Given the description of an element on the screen output the (x, y) to click on. 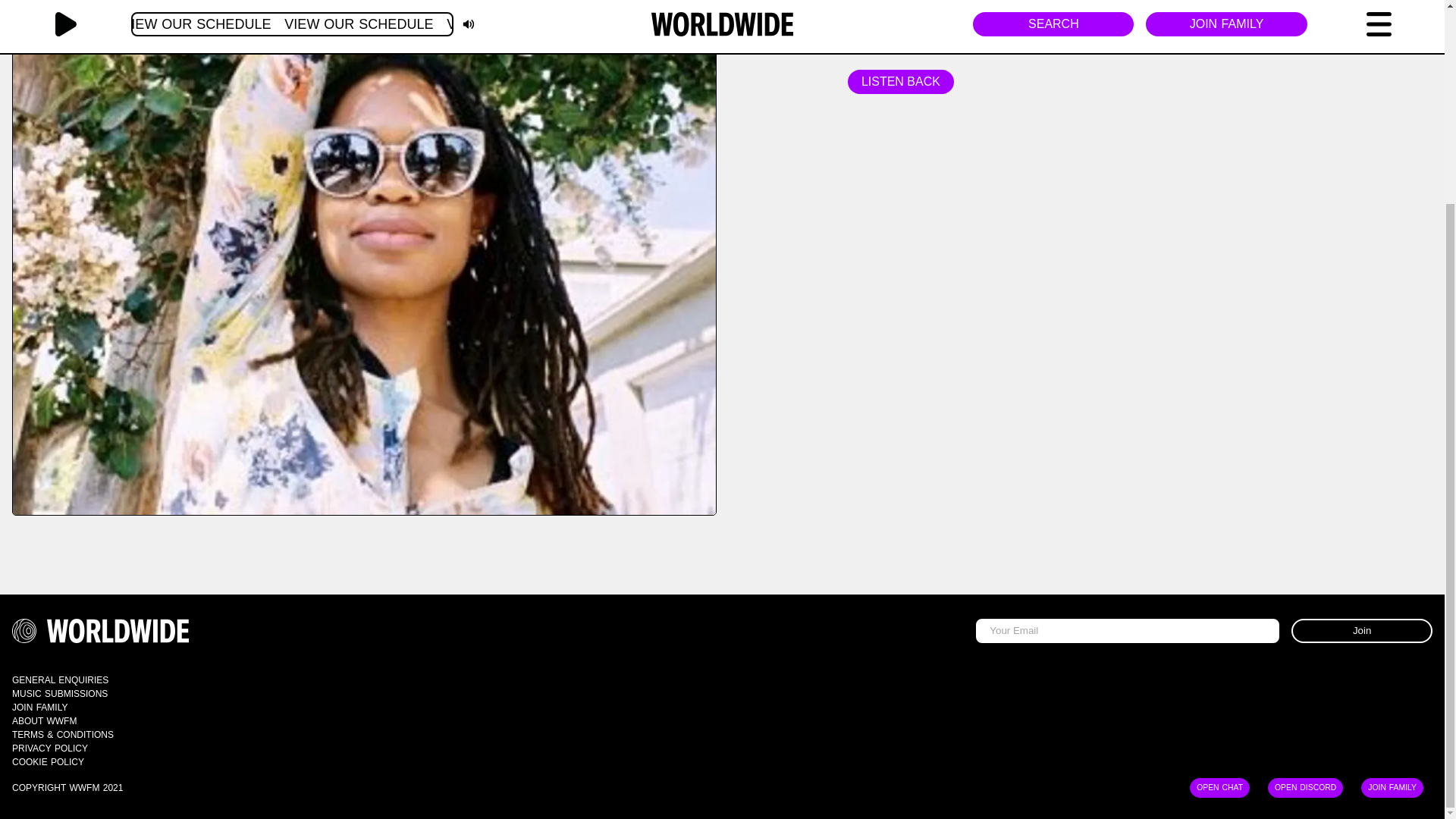
FUNK (946, 39)
LISTEN BACK (900, 81)
GENERAL ENQUIRIES (59, 679)
MUSIC SUBMISSIONS (59, 692)
OPEN DISCORD (1305, 526)
JAZZ (866, 39)
Join (1361, 630)
COOKIE POLICY (47, 760)
JOIN FAMILY (1392, 526)
PRIVACY POLICY (49, 747)
Join (1361, 630)
ABOUT WWFM (44, 719)
JOIN FAMILY (38, 706)
SOUL (906, 39)
